Given the description of an element on the screen output the (x, y) to click on. 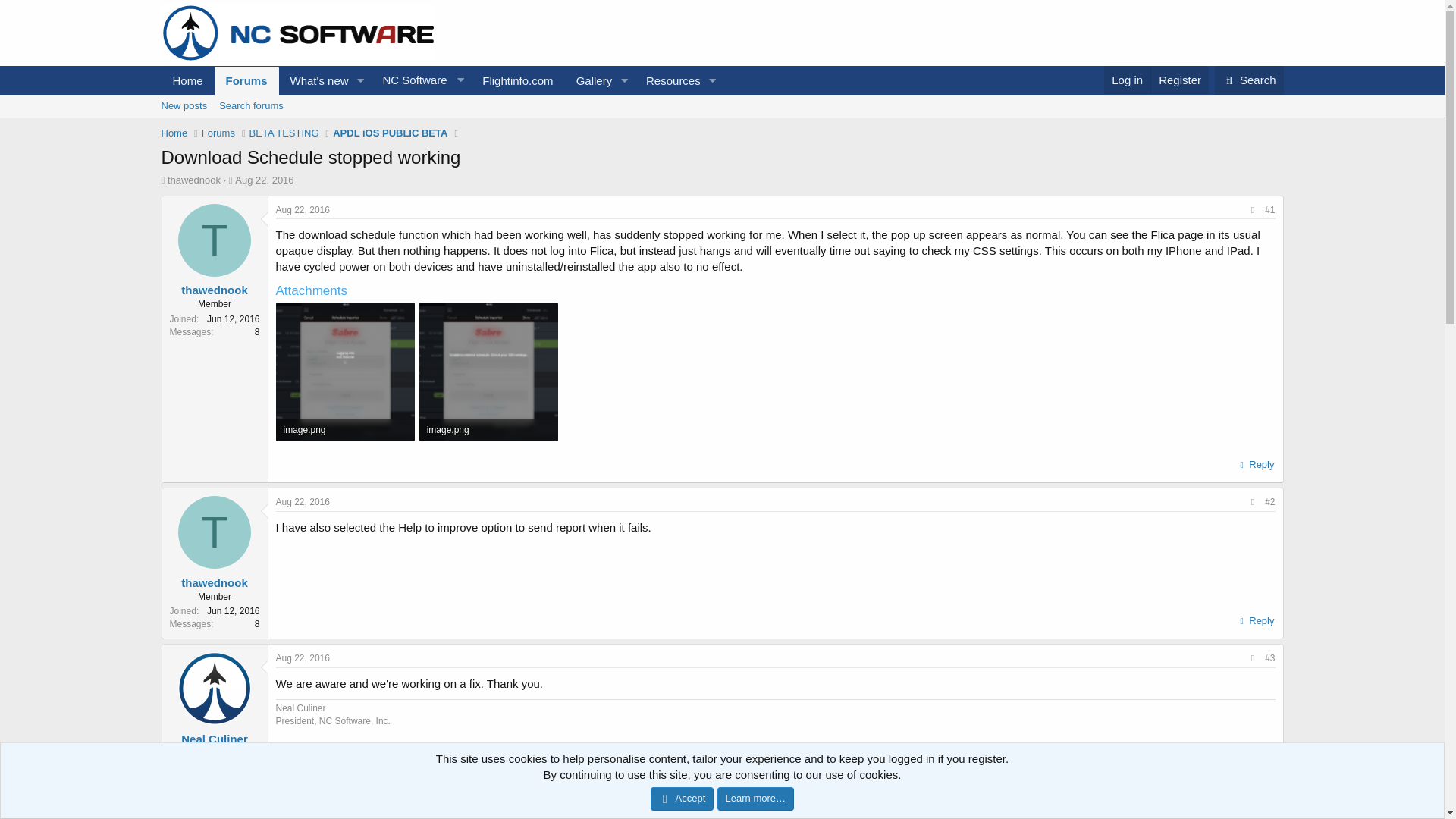
Forums (246, 80)
NC Software (420, 80)
Reply, quoting this message (1254, 465)
Register (1179, 80)
image.png (345, 429)
Log in (1126, 80)
Aug 22, 2016 at 7:41 PM (303, 209)
Reply, quoting this message (1254, 806)
Gallery (721, 106)
